Given the description of an element on the screen output the (x, y) to click on. 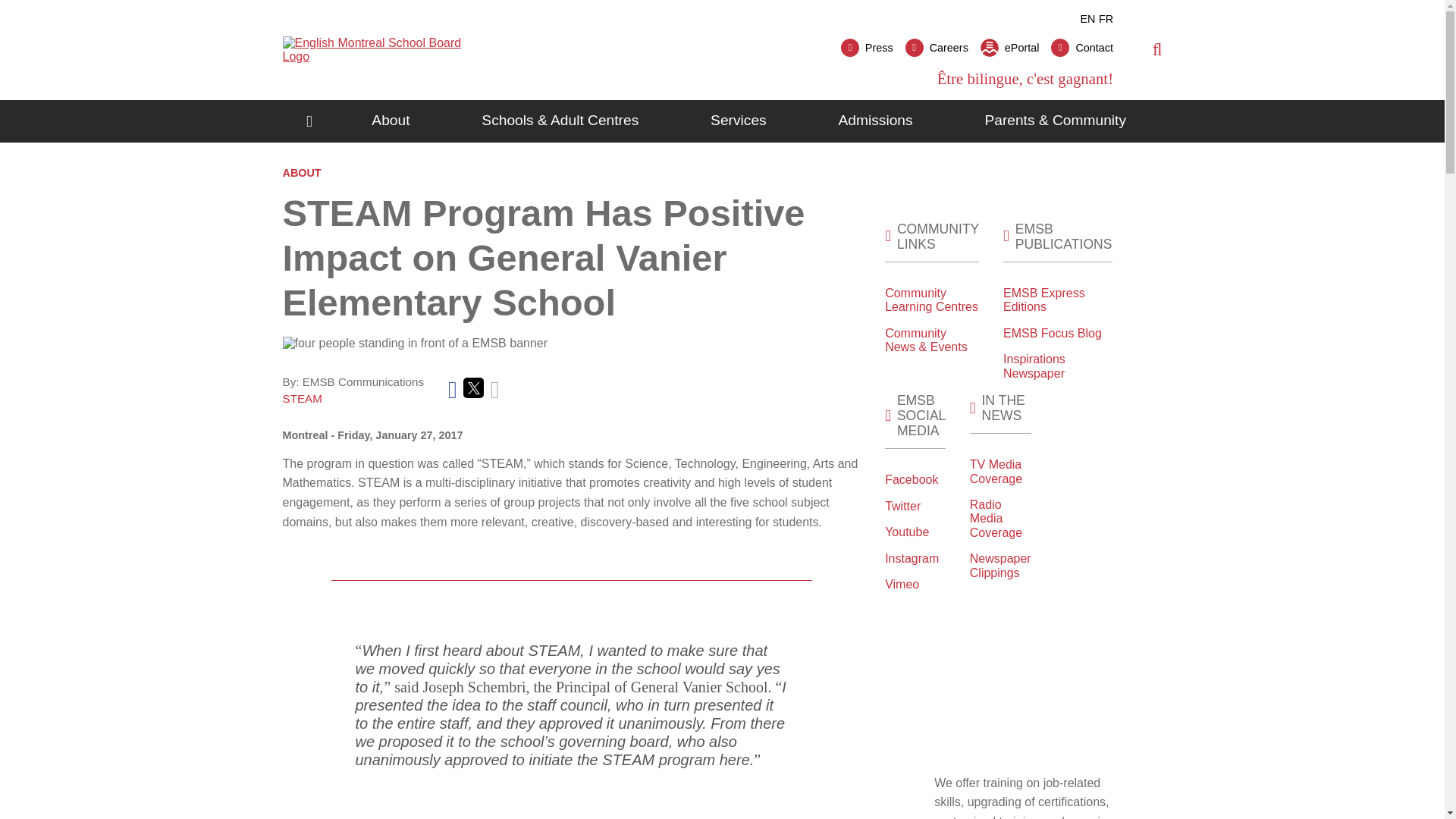
About (390, 120)
staff portal, employee services, student portal, eportal (1009, 47)
get in touch (1082, 47)
Contact (1082, 47)
job opportunities (936, 47)
FR (1106, 19)
Careers (936, 47)
EN (1087, 19)
Info for media and journalists (867, 47)
Press (867, 47)
About (390, 120)
ePortal (1009, 47)
Search (1122, 104)
